Given the description of an element on the screen output the (x, y) to click on. 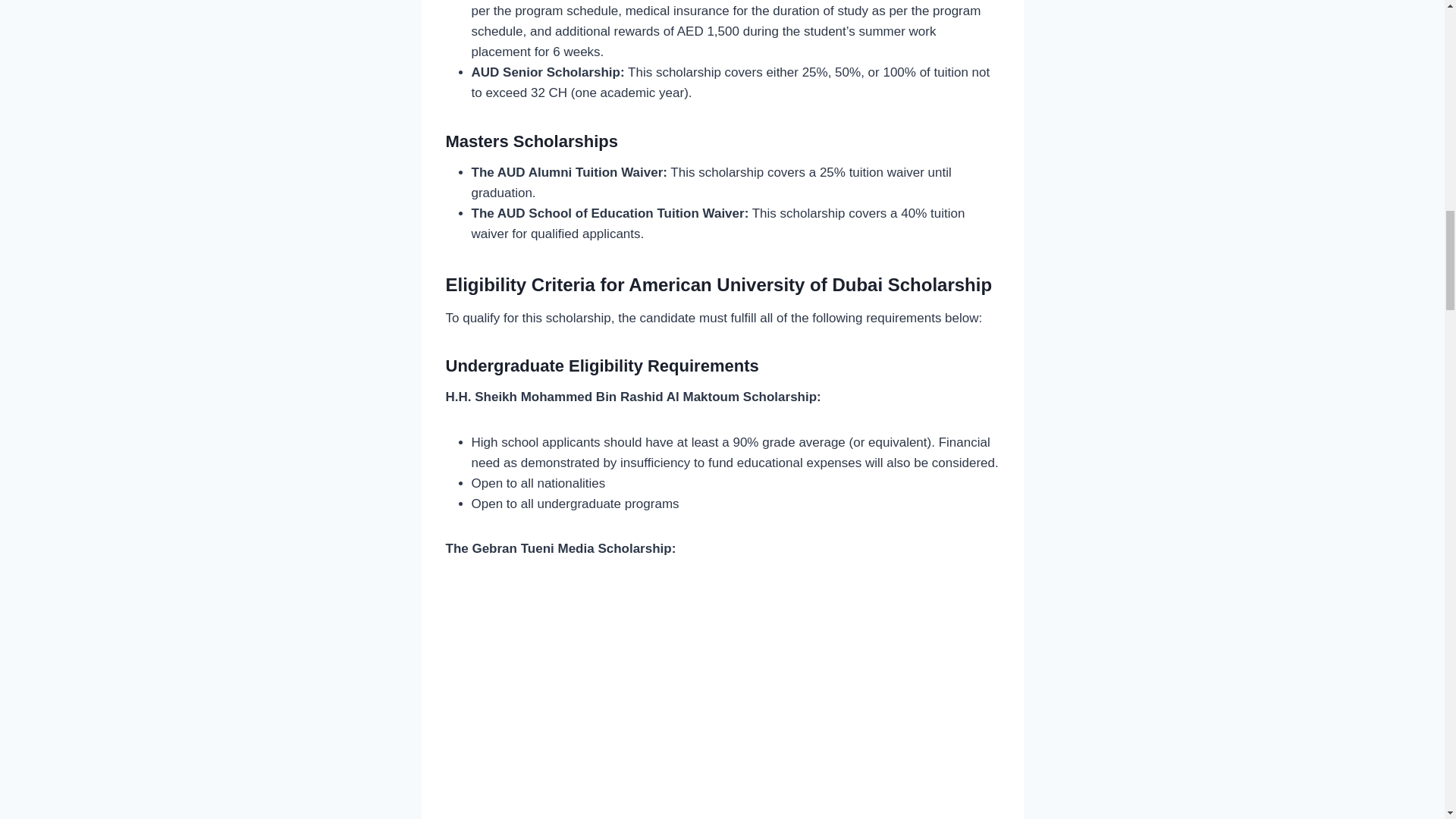
3rd party ad content (721, 701)
